Given the description of an element on the screen output the (x, y) to click on. 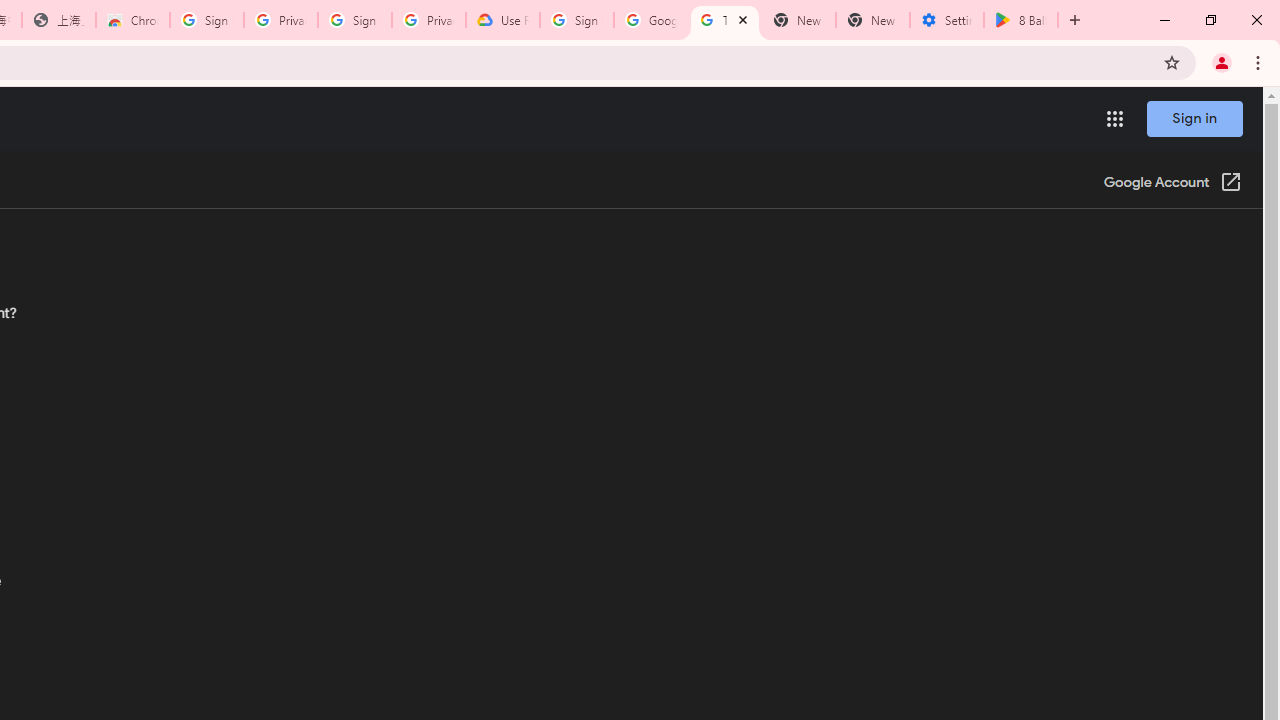
Sign in - Google Accounts (207, 20)
Chrome Web Store - Color themes by Chrome (133, 20)
Settings - System (947, 20)
Sign in - Google Accounts (577, 20)
Sign in - Google Accounts (354, 20)
Google Account Help (651, 20)
8 Ball Pool - Apps on Google Play (1021, 20)
